Given the description of an element on the screen output the (x, y) to click on. 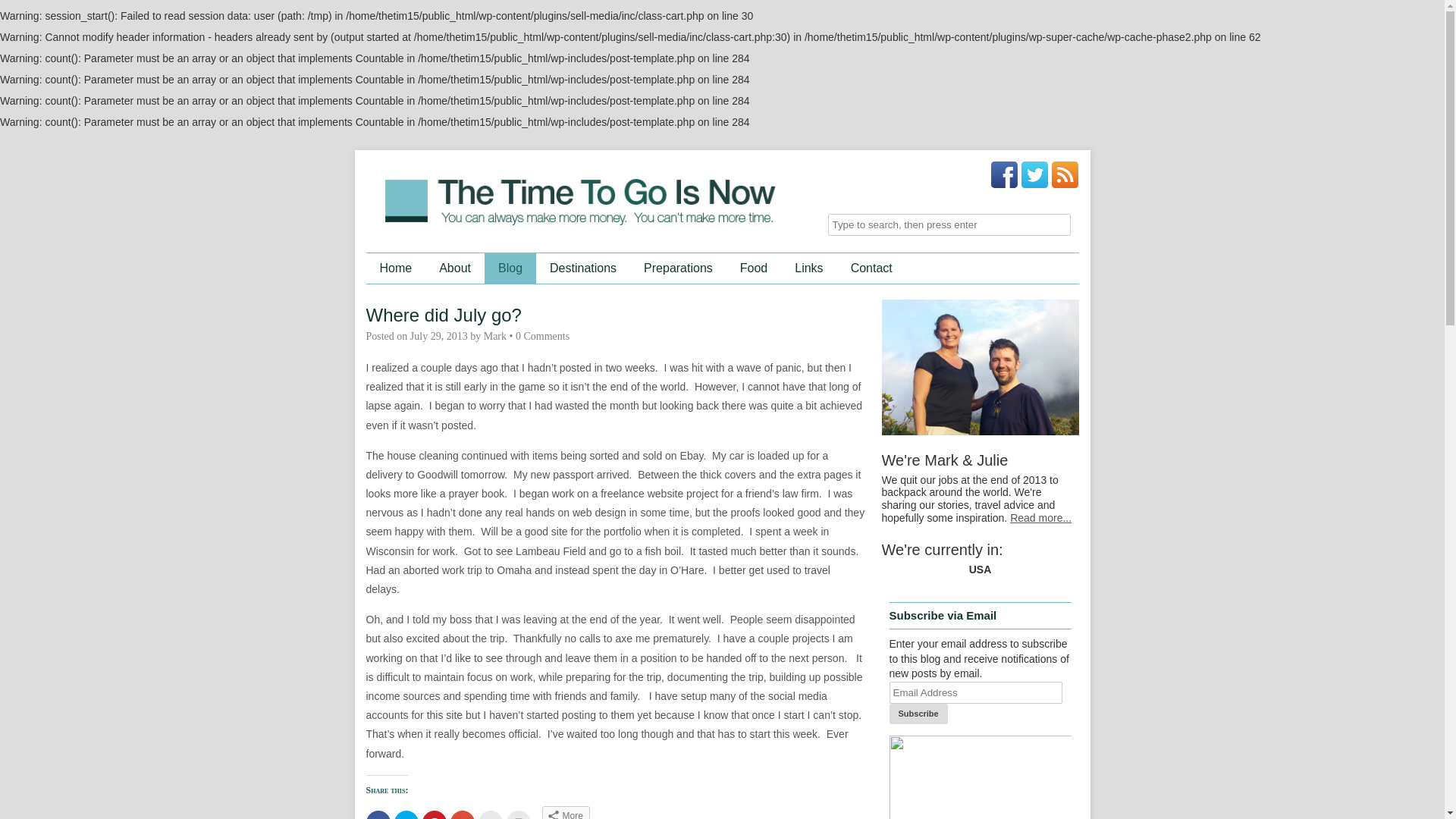
Type to search, then press enter (949, 224)
Destinations (582, 268)
0 Comments (542, 336)
Search (23, 10)
Subscribe (917, 713)
Facebook (1004, 174)
View all posts by Mark (494, 336)
Read more... (1040, 517)
About (454, 268)
Home (395, 268)
Click to share on Facebook (377, 814)
Click to share on Pinterest (433, 814)
Click to print (518, 814)
Food (753, 268)
Blog (509, 268)
